Given the description of an element on the screen output the (x, y) to click on. 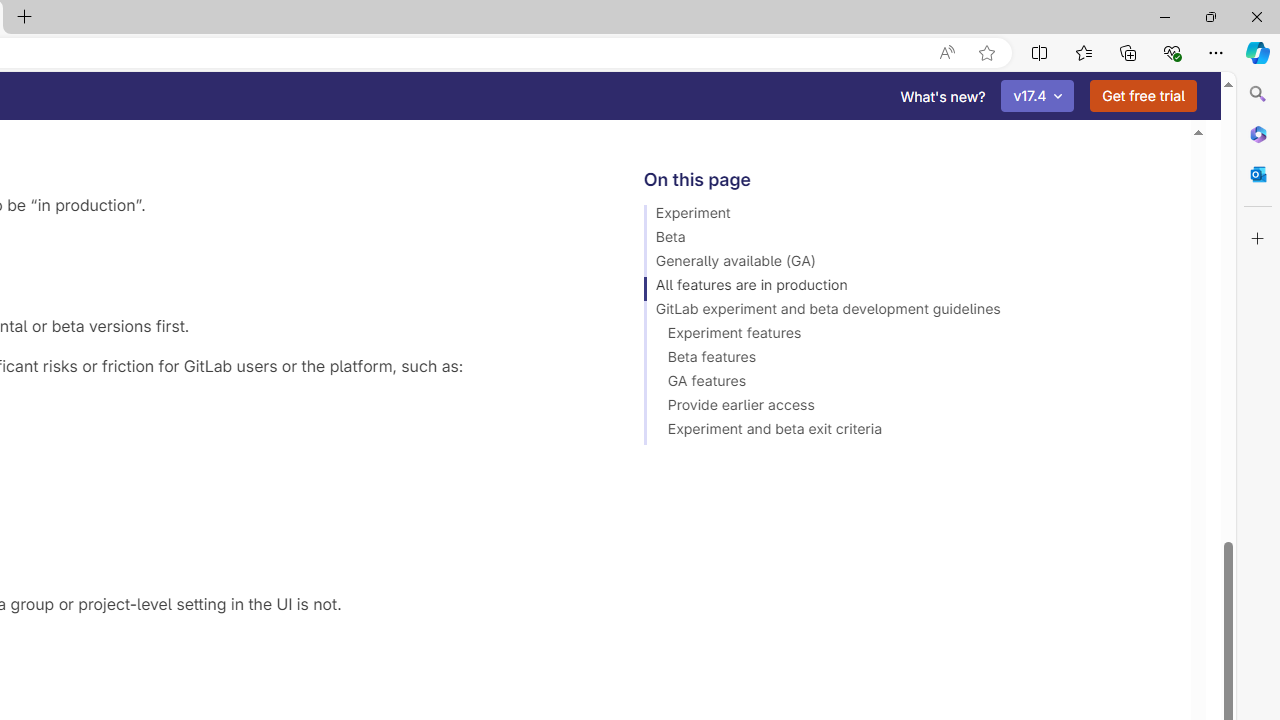
Generally available (GA) (908, 264)
Provide earlier access (908, 408)
Beta (908, 240)
Provide earlier access (908, 408)
Beta features (908, 359)
What's new? (943, 96)
All features are in production (908, 287)
Beta features (908, 359)
v17.4 (1037, 95)
